Given the description of an element on the screen output the (x, y) to click on. 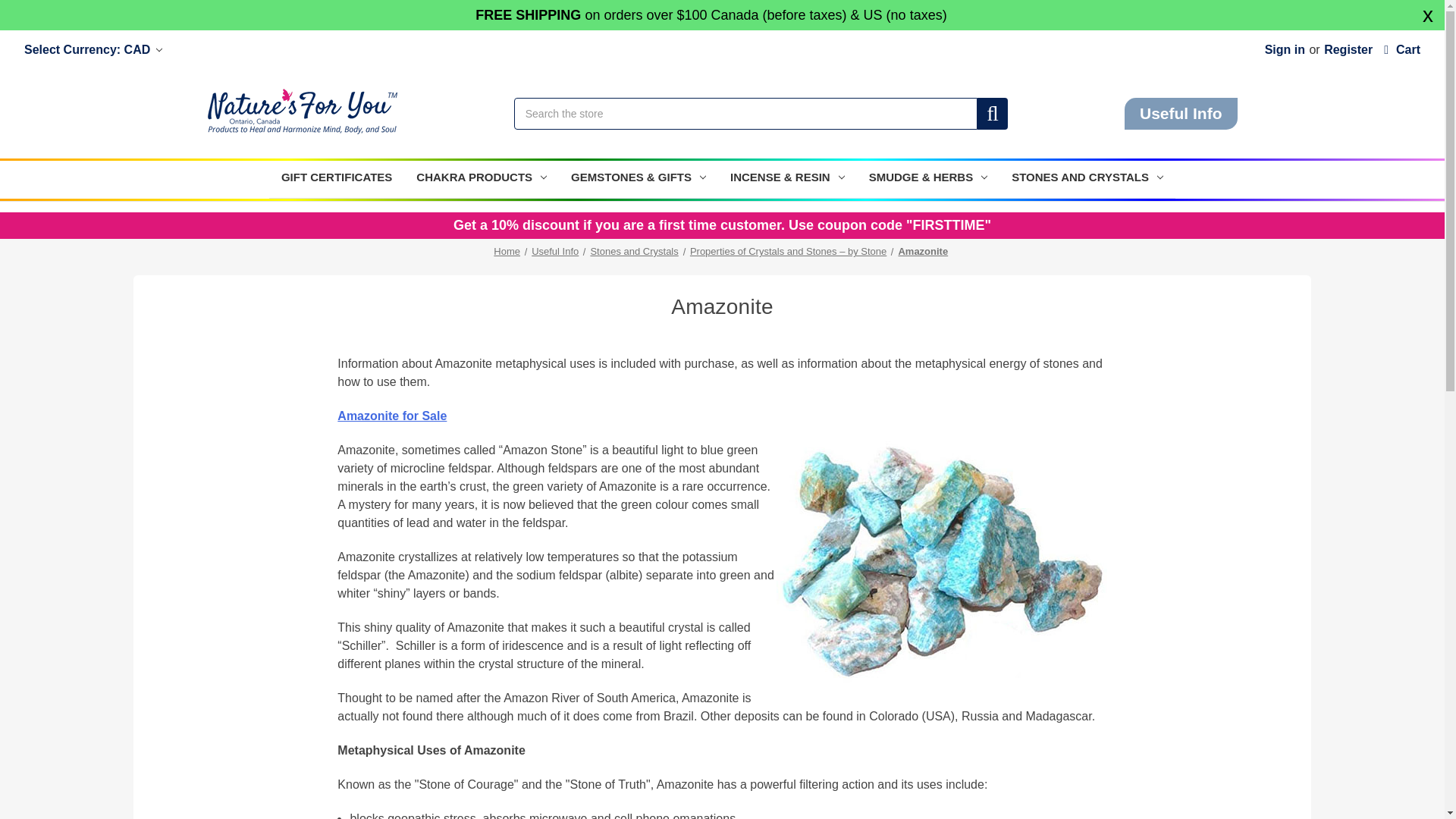
Natures For You (302, 111)
Useful Info (1181, 113)
amazonite.436.jpg (941, 566)
GIFT CERTIFICATES (336, 179)
Skip to main content (721, 17)
Sign in (1284, 49)
Select Currency: CAD (93, 49)
Cart (1401, 49)
Register (1348, 49)
CHAKRA PRODUCTS (481, 179)
